Given the description of an element on the screen output the (x, y) to click on. 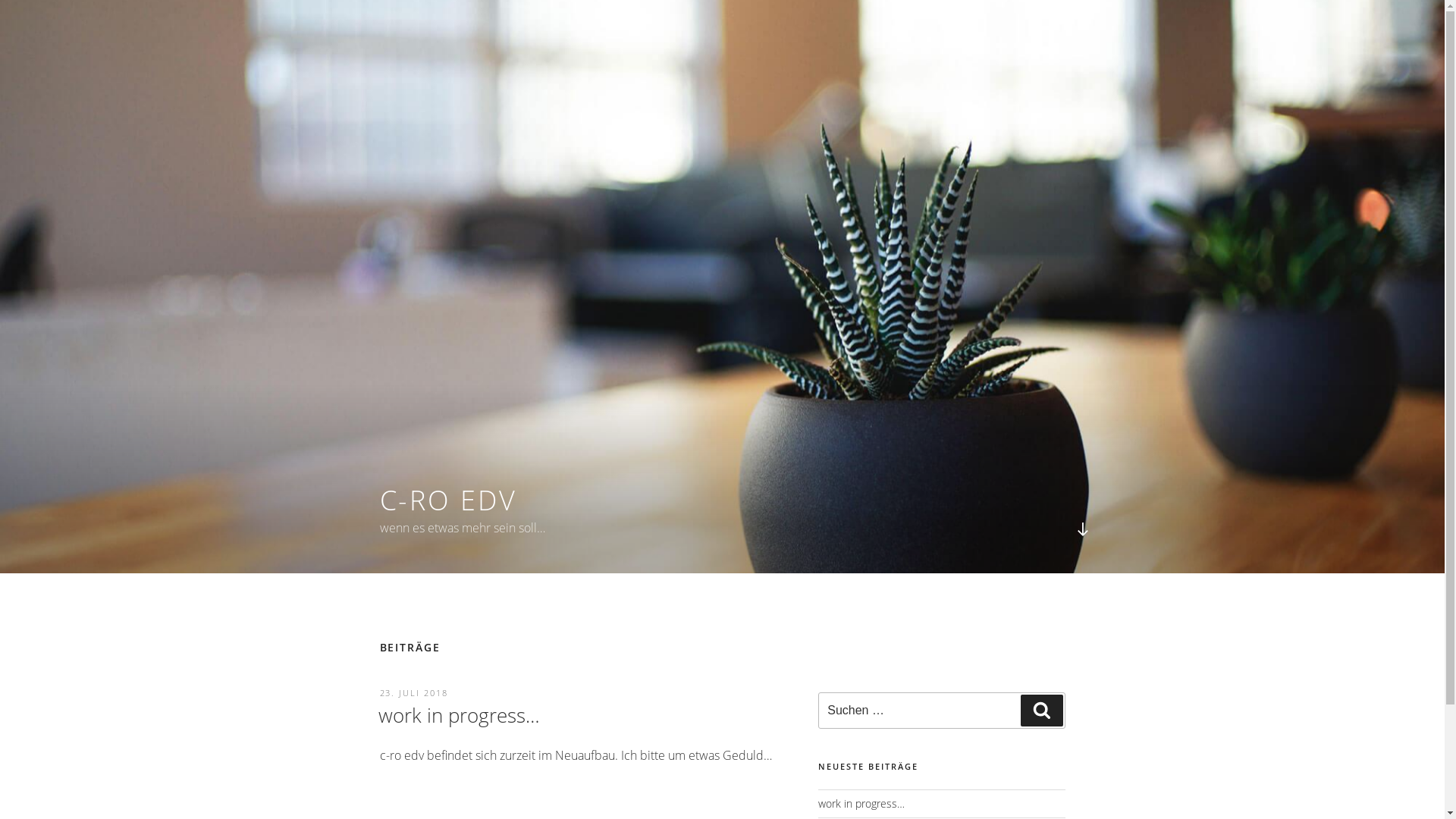
Suchen Element type: text (1041, 710)
C-RO EDV Element type: text (447, 499)
23. JULI 2018 Element type: text (413, 692)
Zum Inhalt nach unten scrollen Element type: text (1082, 528)
